Given the description of an element on the screen output the (x, y) to click on. 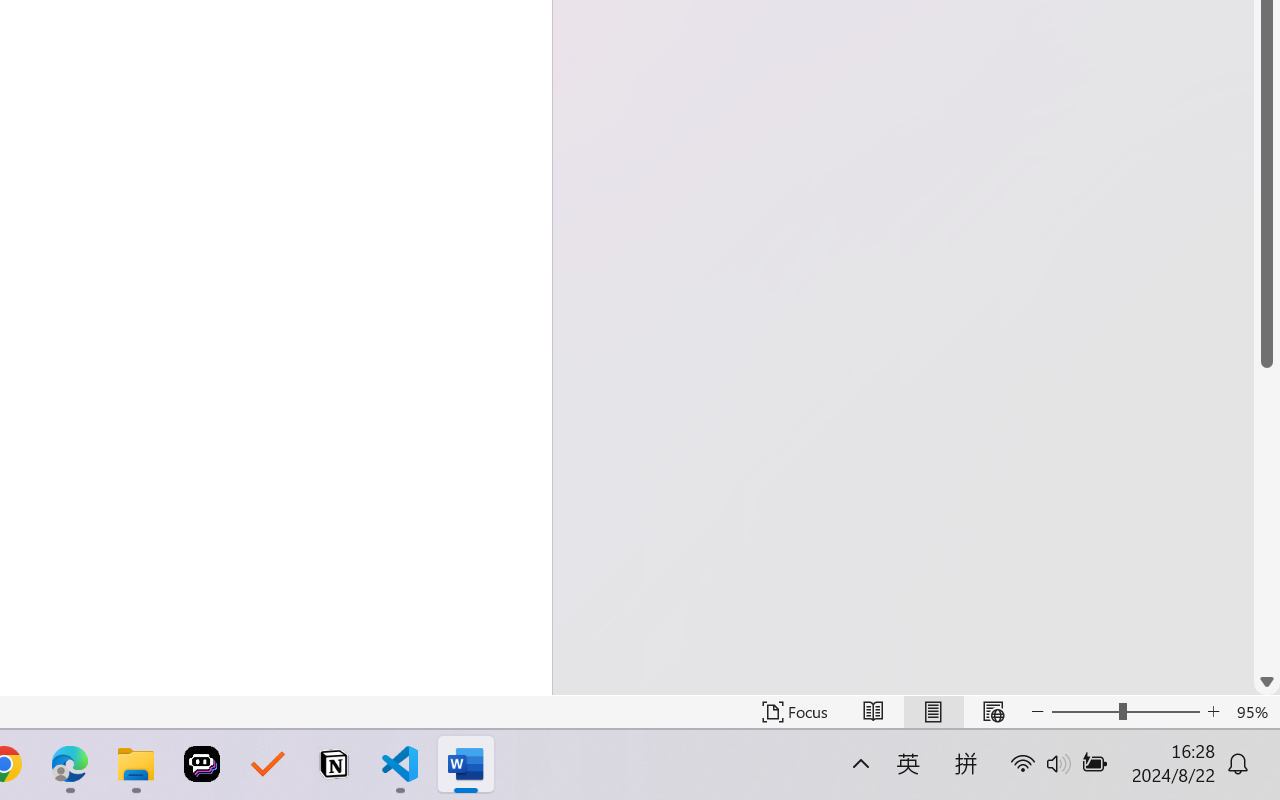
Zoom 95% (1253, 712)
Line down (1267, 681)
Page down (1267, 518)
